Given the description of an element on the screen output the (x, y) to click on. 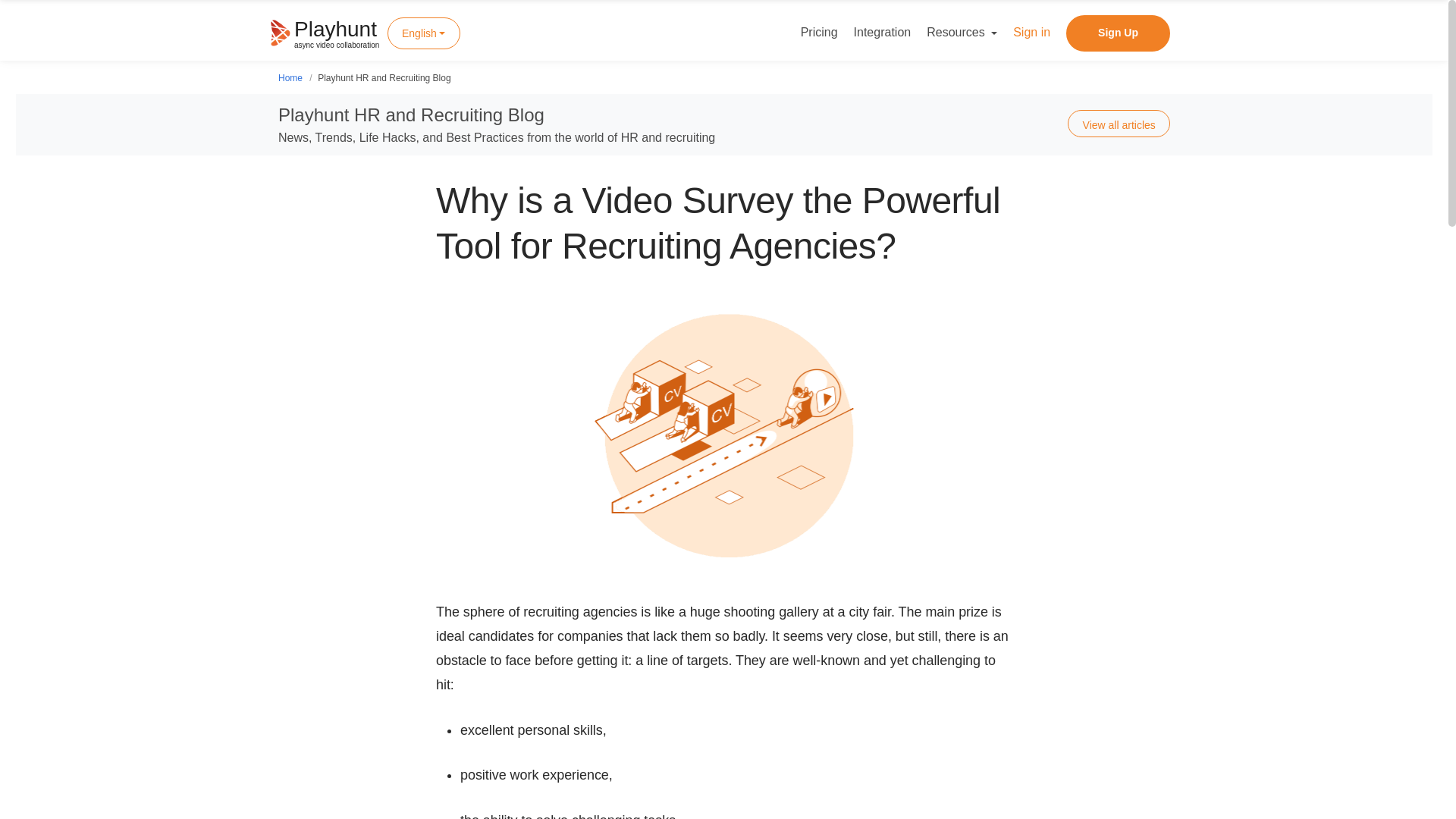
Pricing (818, 32)
English (328, 32)
